Given the description of an element on the screen output the (x, y) to click on. 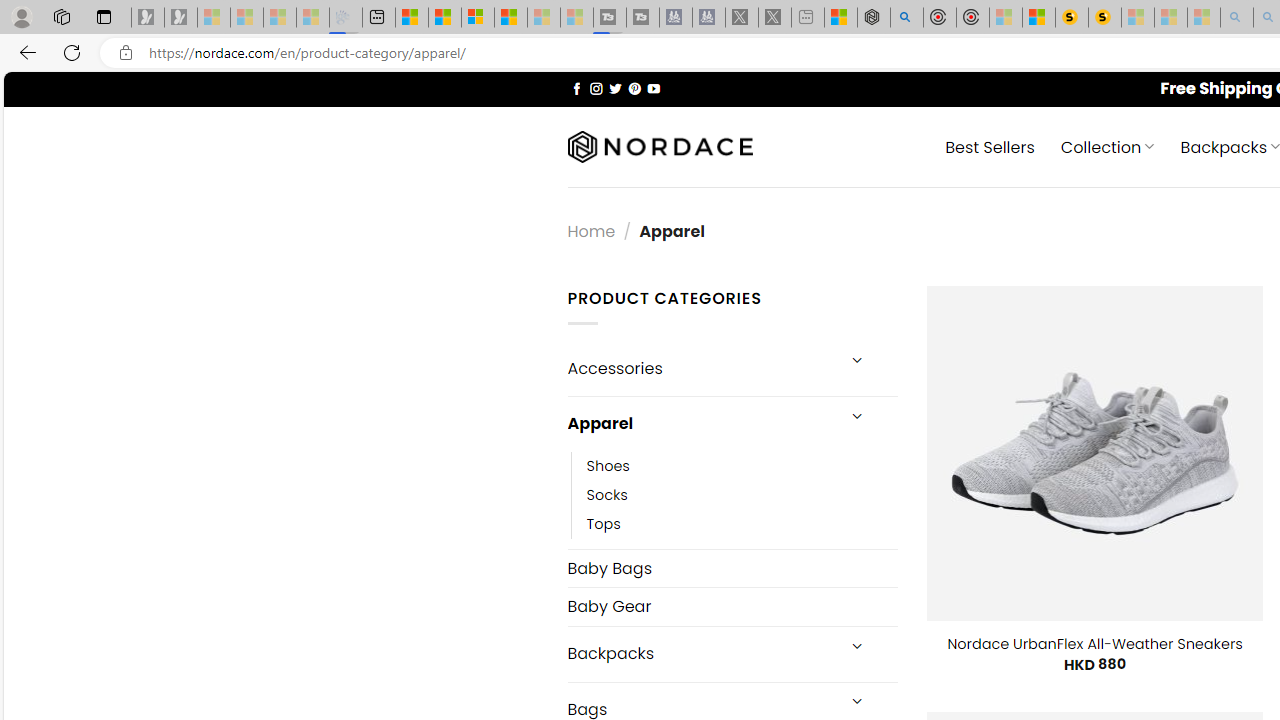
poe - Search (906, 17)
Tops (742, 524)
Home (591, 230)
Overview (478, 17)
Newsletter Sign Up - Sleeping (181, 17)
Follow on Instagram (596, 88)
Apparel (700, 423)
Baby Gear (732, 606)
Nordace UrbanFlex All-Weather Sneakers (1094, 643)
